Given the description of an element on the screen output the (x, y) to click on. 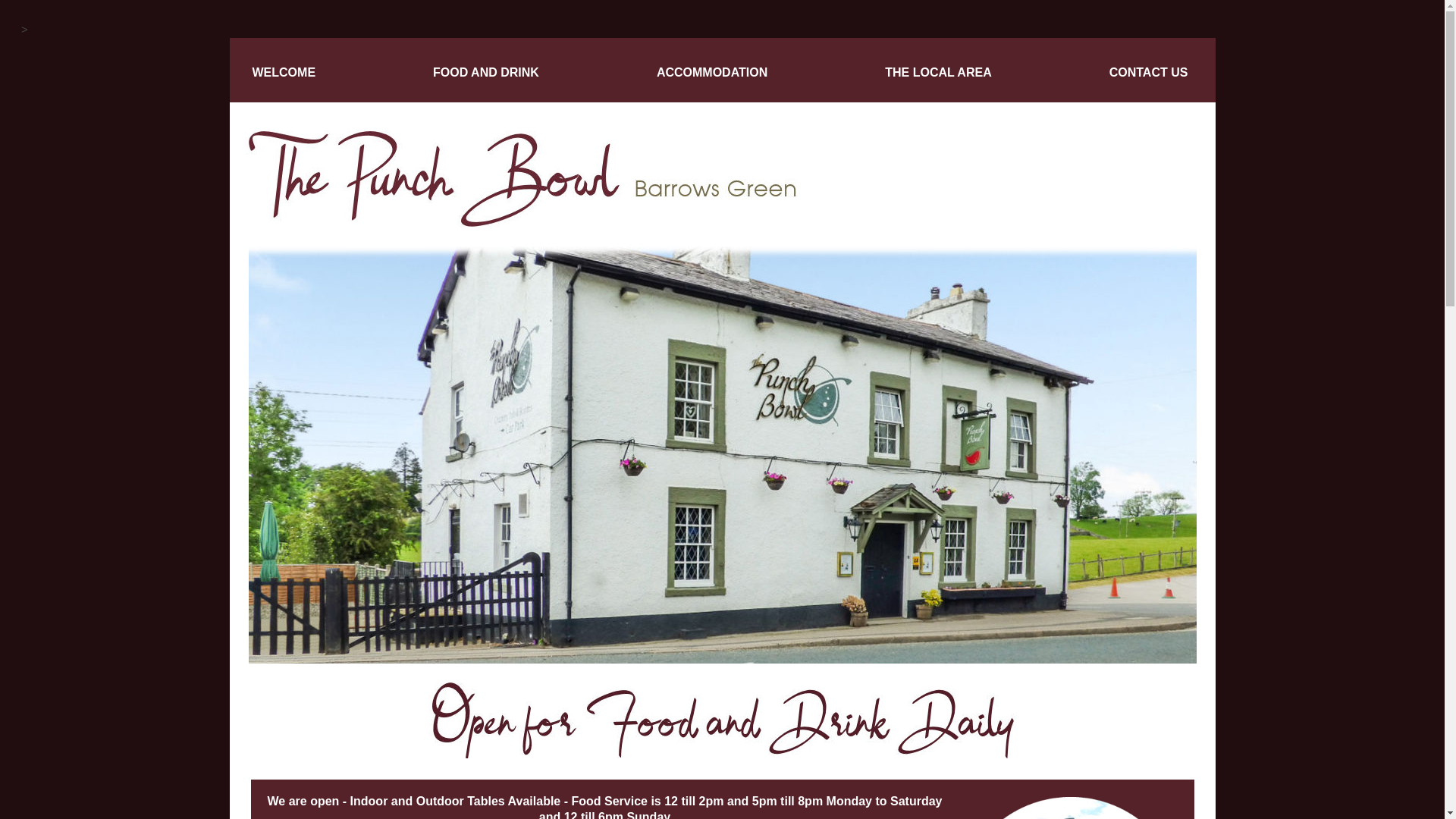
CONTACT US (1148, 72)
THE LOCAL AREA (938, 72)
ACCOMMODATION (711, 72)
FOOD AND DRINK (485, 72)
